Given the description of an element on the screen output the (x, y) to click on. 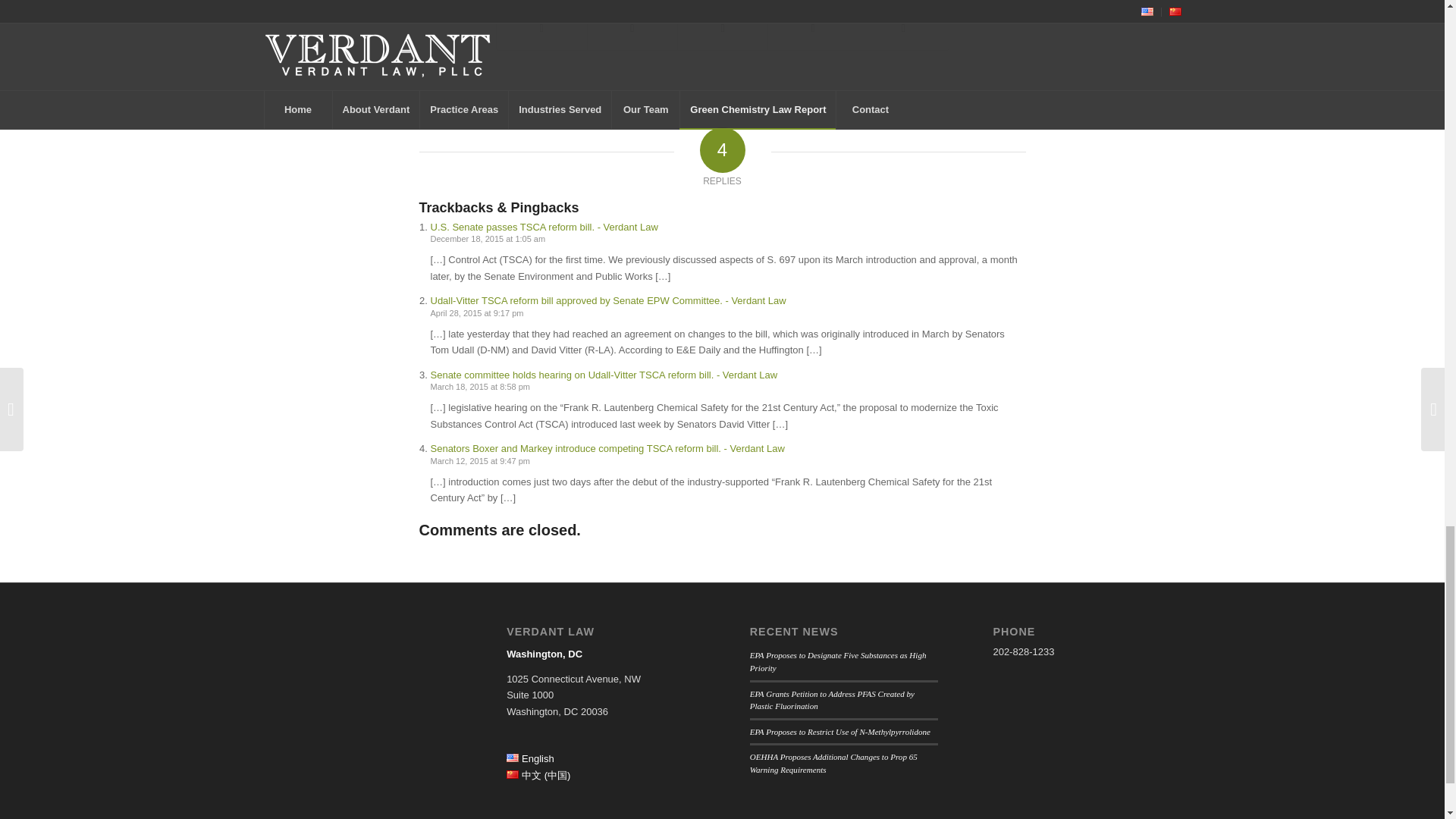
December 18, 2015 at 1:05 am (488, 238)
U.S. Senate passes TSCA reform bill. - Verdant Law (544, 226)
